Given the description of an element on the screen output the (x, y) to click on. 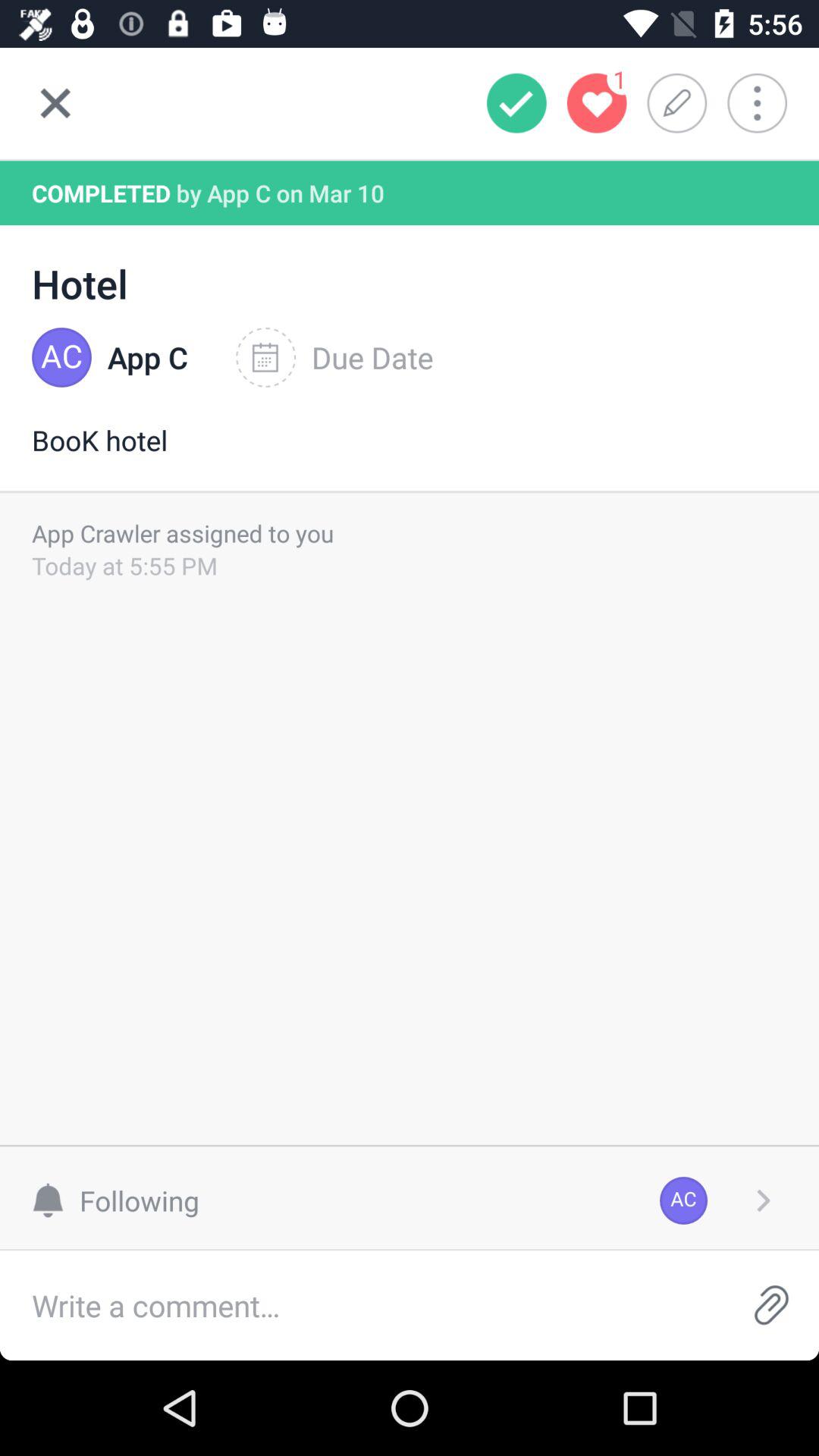
turn off the book hotel (409, 455)
